Given the description of an element on the screen output the (x, y) to click on. 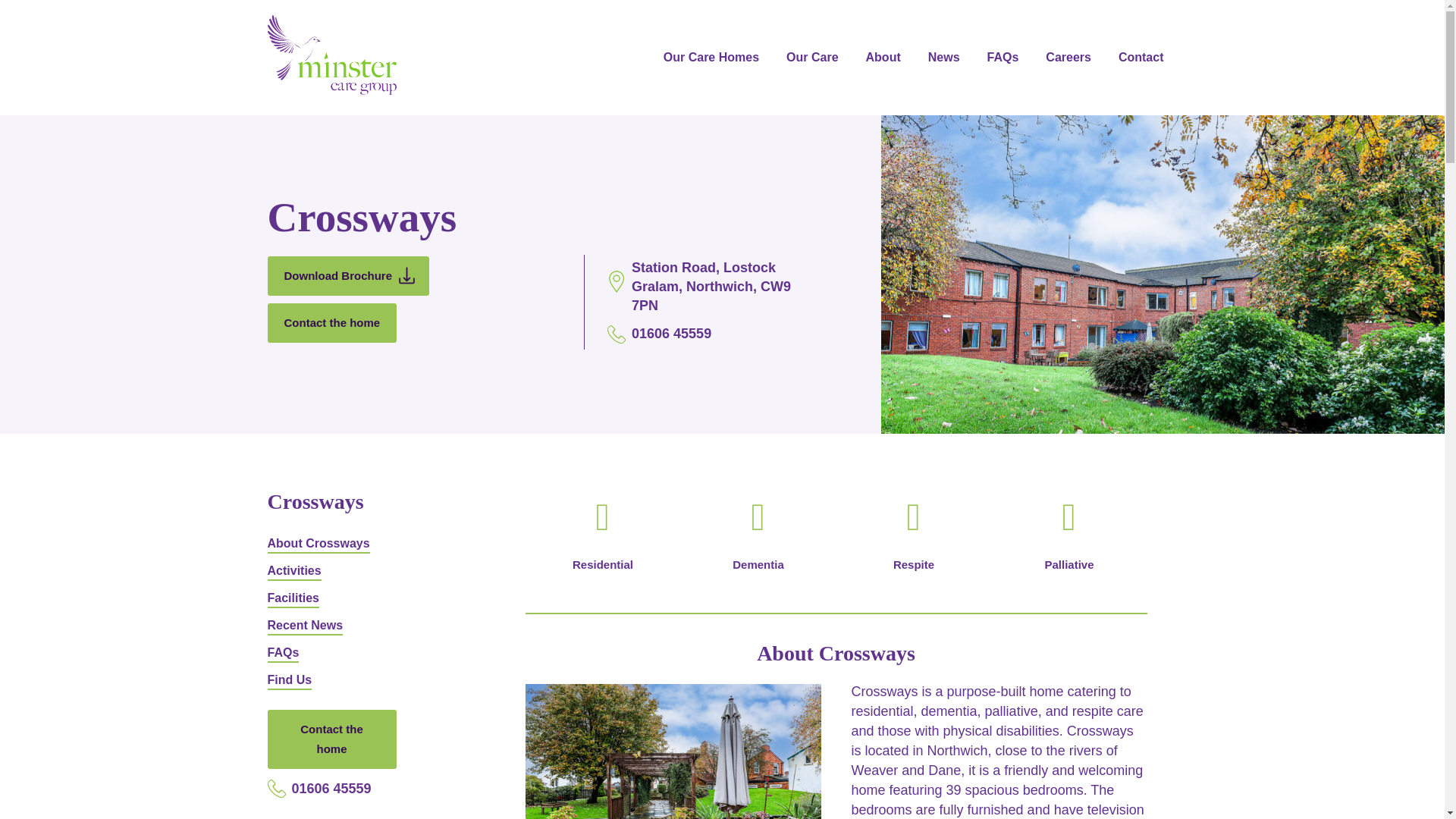
Dementia (758, 541)
Careers (1068, 59)
Residential (602, 541)
About (882, 59)
News (944, 59)
Our Care (812, 59)
FAQs (1003, 59)
Our Care Homes (711, 59)
Contact (1141, 59)
